Given the description of an element on the screen output the (x, y) to click on. 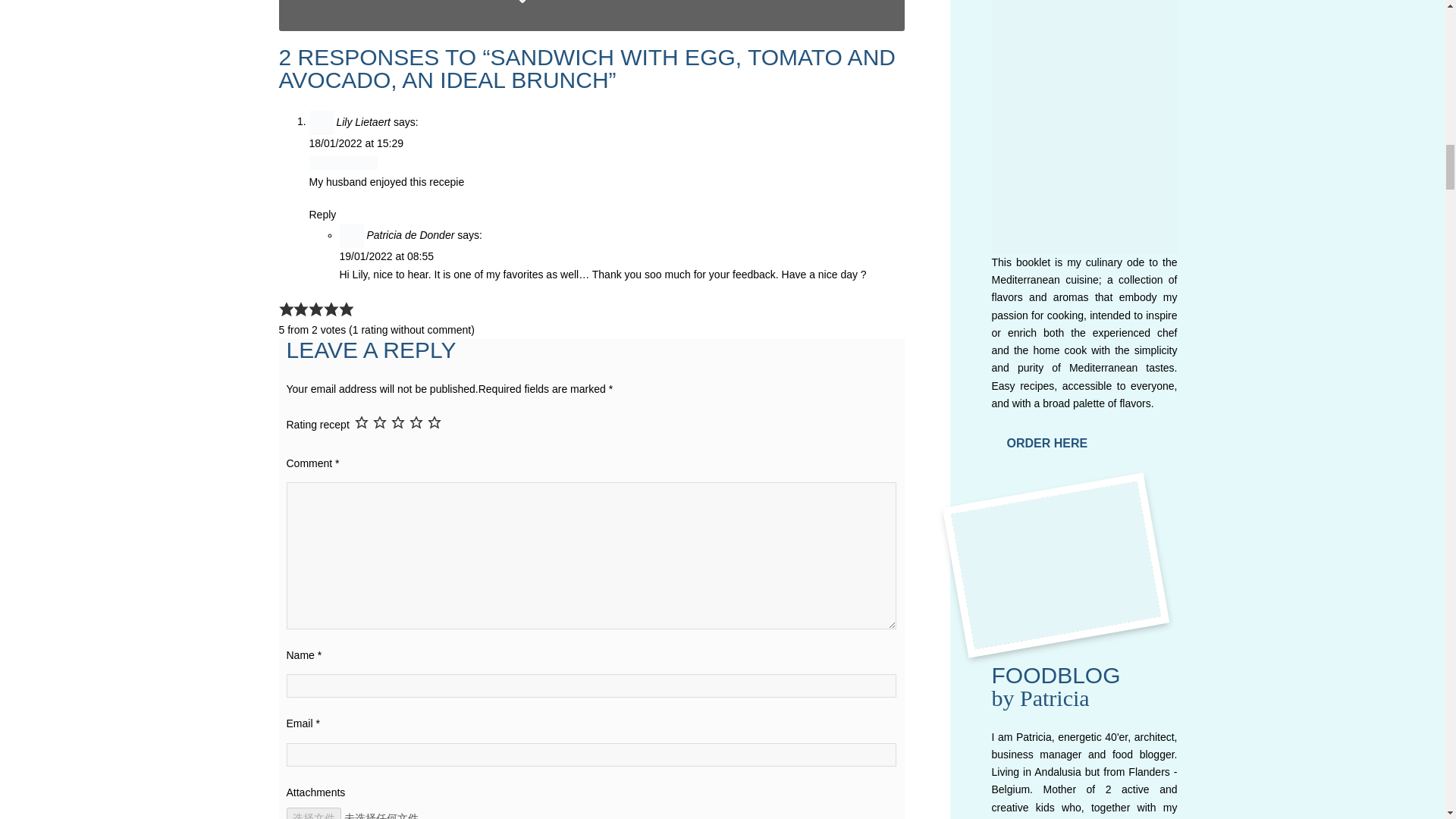
ORDER HERE (1047, 443)
Let us know (582, 1)
Reply (322, 214)
1 rating without comment (411, 329)
